Given the description of an element on the screen output the (x, y) to click on. 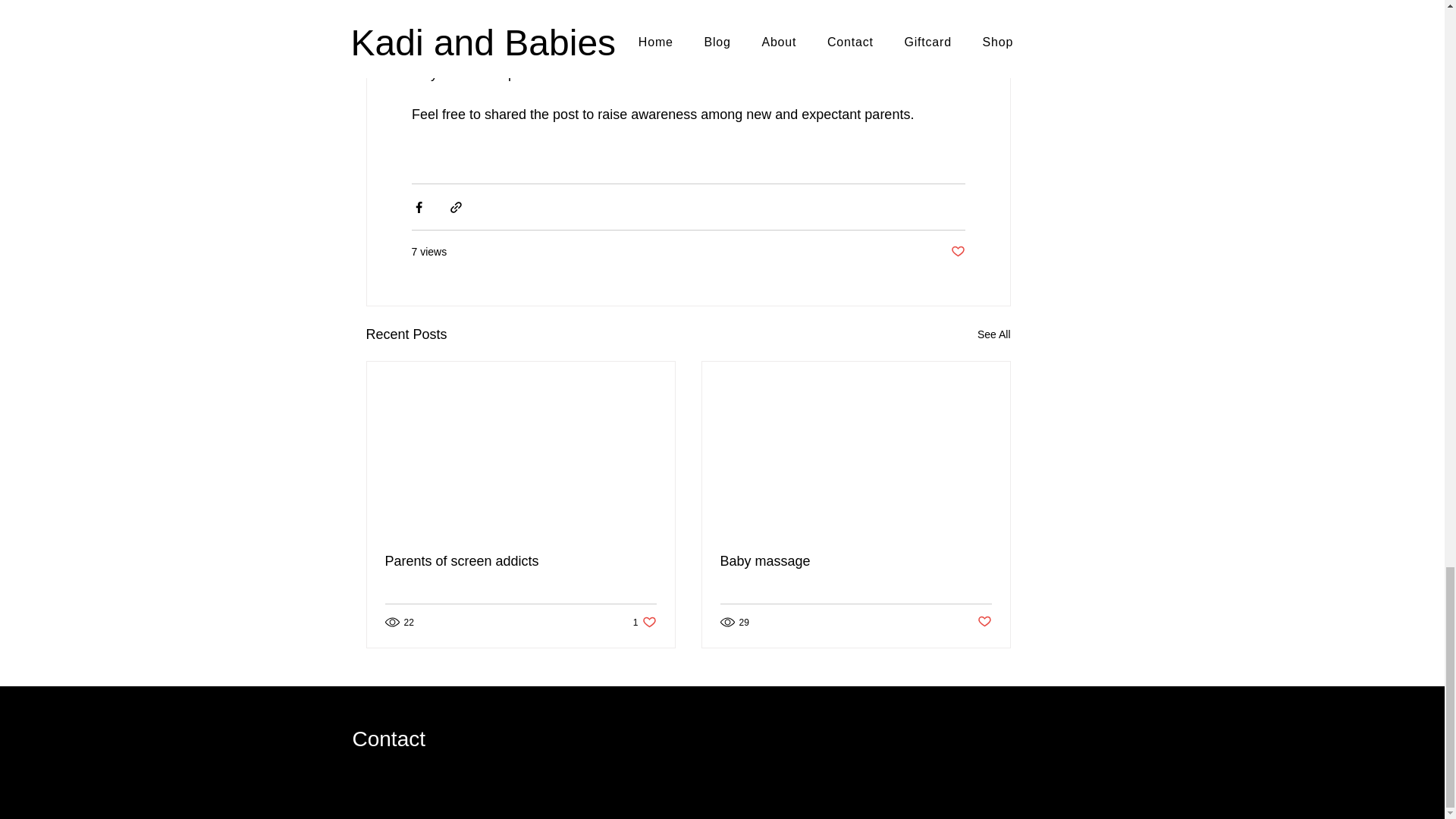
Post not marked as liked (957, 252)
Baby massage (855, 561)
Parents of screen addicts (520, 561)
Post not marked as liked (983, 621)
See All (993, 334)
